Given the description of an element on the screen output the (x, y) to click on. 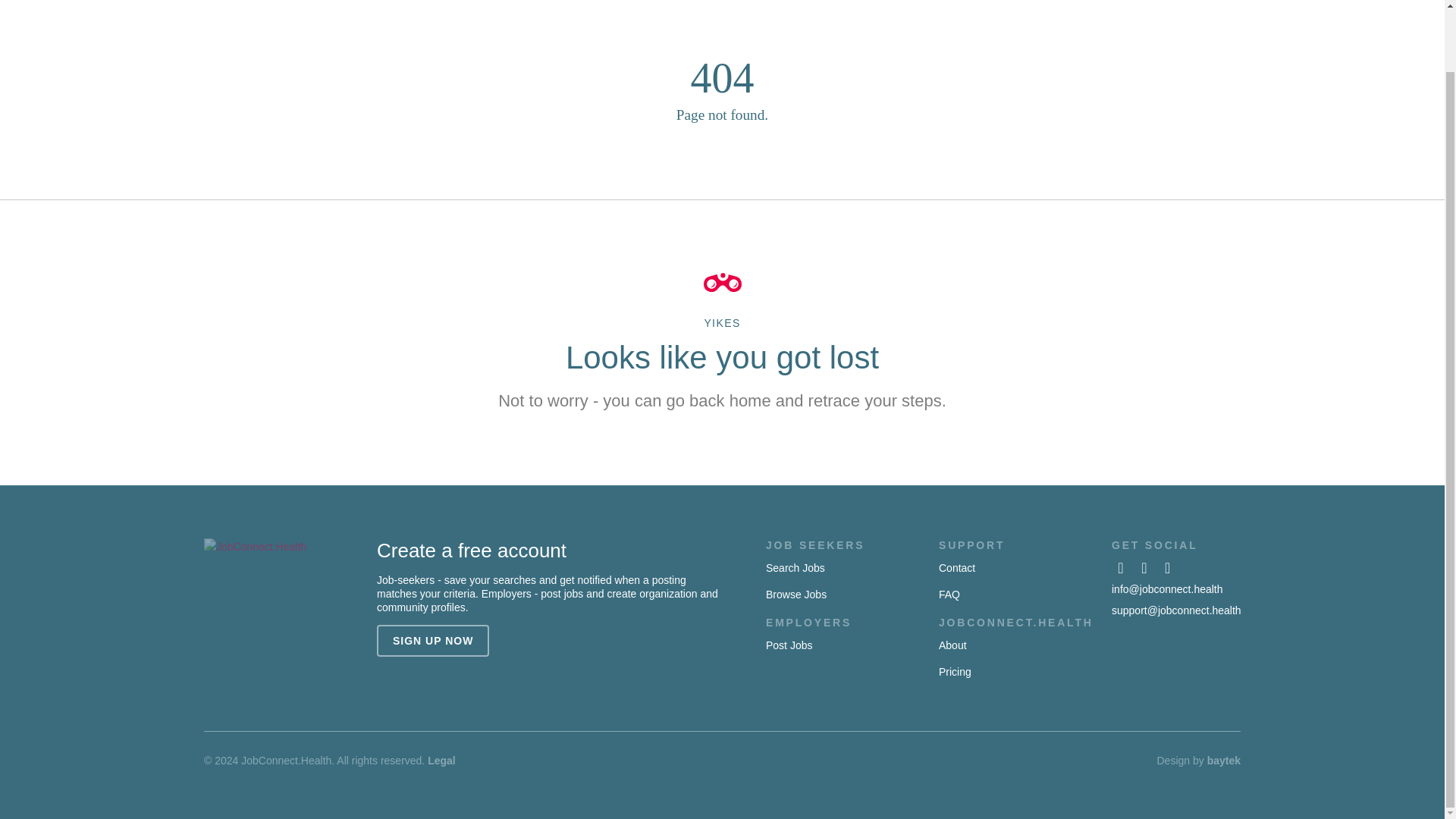
baytek (1223, 760)
Search Jobs (795, 567)
SIGN UP NOW (433, 640)
Pricing (955, 671)
Browse Jobs (796, 594)
Ottawa Web Design (1223, 760)
FAQ (949, 594)
Legal (441, 760)
Post Jobs (788, 645)
Contact (957, 567)
